Given the description of an element on the screen output the (x, y) to click on. 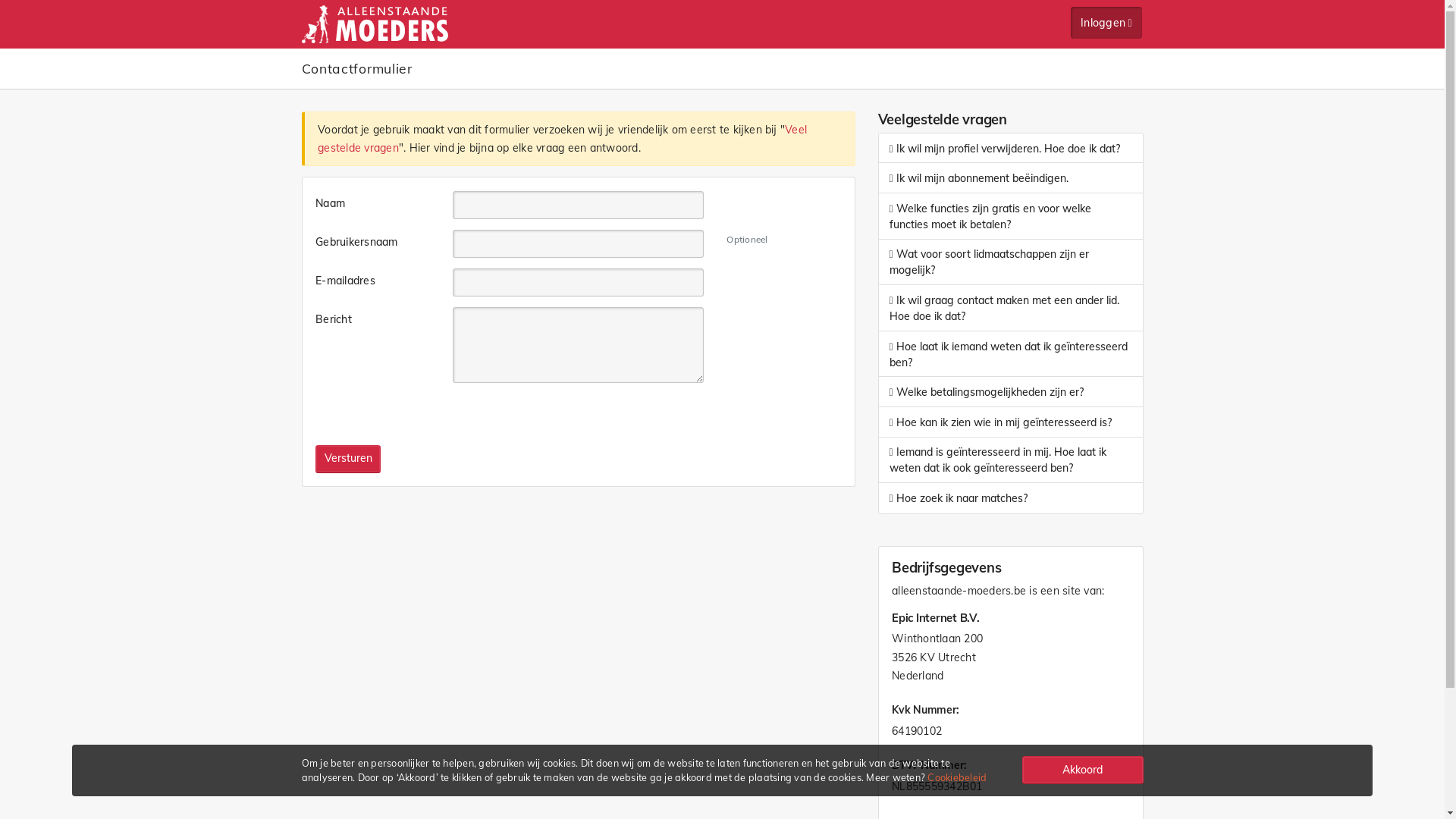
Ik wil mijn profiel verwijderen. Hoe doe ik dat? Element type: text (1010, 148)
Welke betalingsmogelijkheden zijn er? Element type: text (1010, 392)
Versturen Element type: text (347, 459)
Cookiebeleid Element type: text (956, 777)
Veel gestelde vragen Element type: text (561, 138)
Akkoord Element type: text (1082, 770)
Wat voor soort lidmaatschappen zijn er mogelijk? Element type: text (1010, 262)
Hoe zoek ik naar matches? Element type: text (1010, 498)
Inloggen Element type: text (1105, 22)
